Given the description of an element on the screen output the (x, y) to click on. 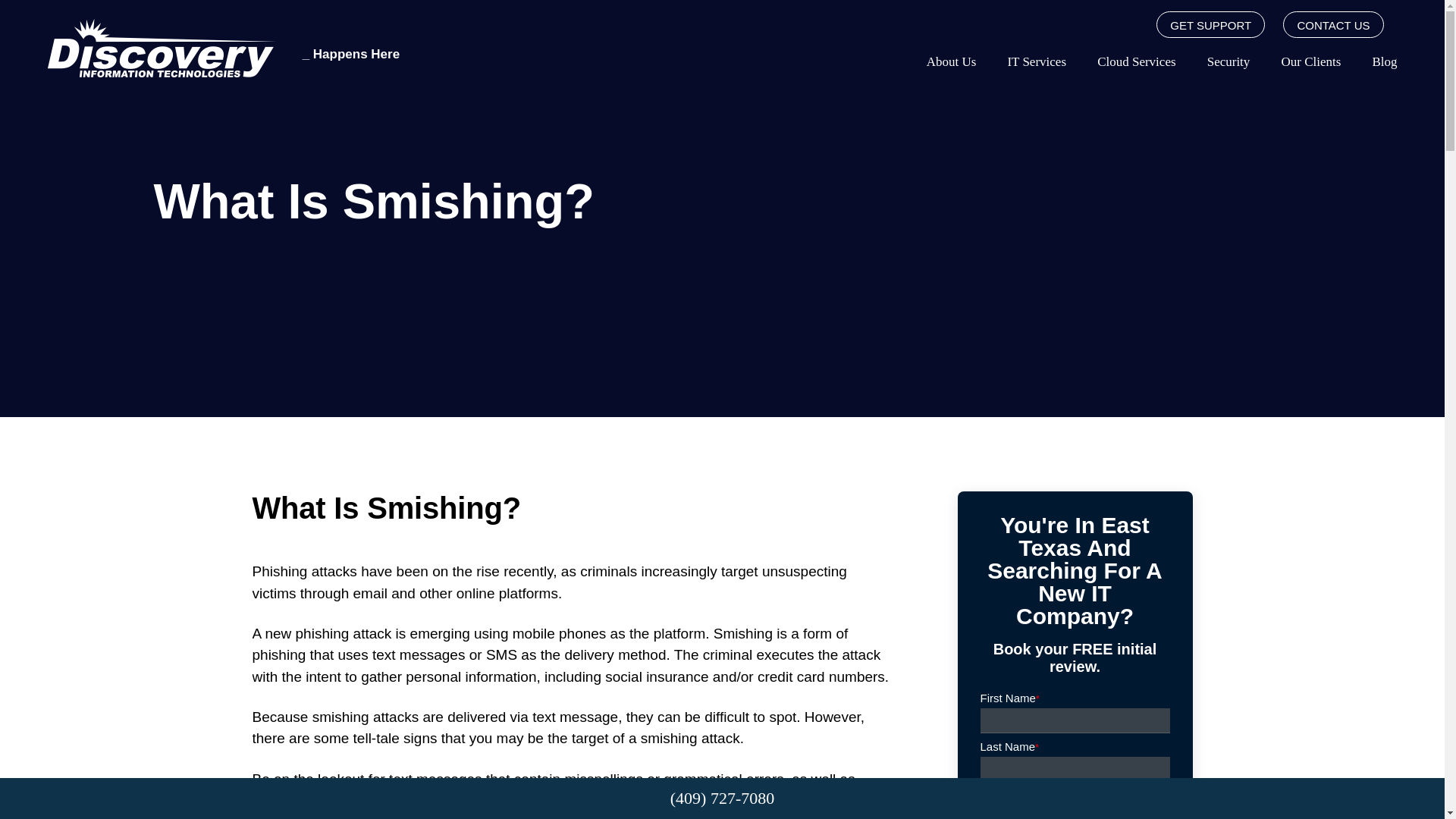
IT Services (1036, 61)
CONTACT US (1332, 24)
Our Clients (1310, 61)
Cloud Services (1135, 61)
About Us (951, 61)
Security (1228, 61)
GET SUPPORT (1210, 24)
